Given the description of an element on the screen output the (x, y) to click on. 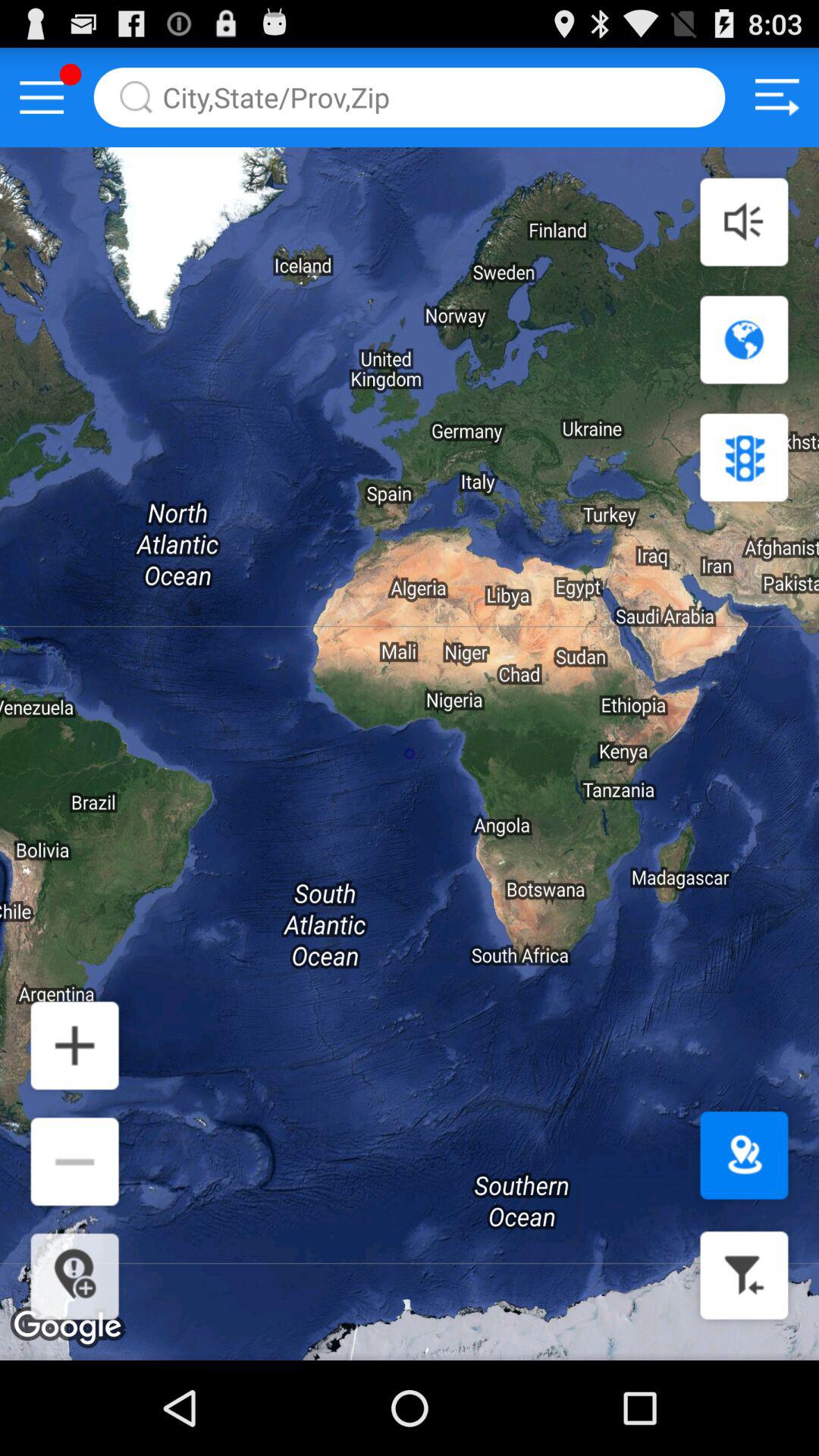
select options (41, 97)
